Given the description of an element on the screen output the (x, y) to click on. 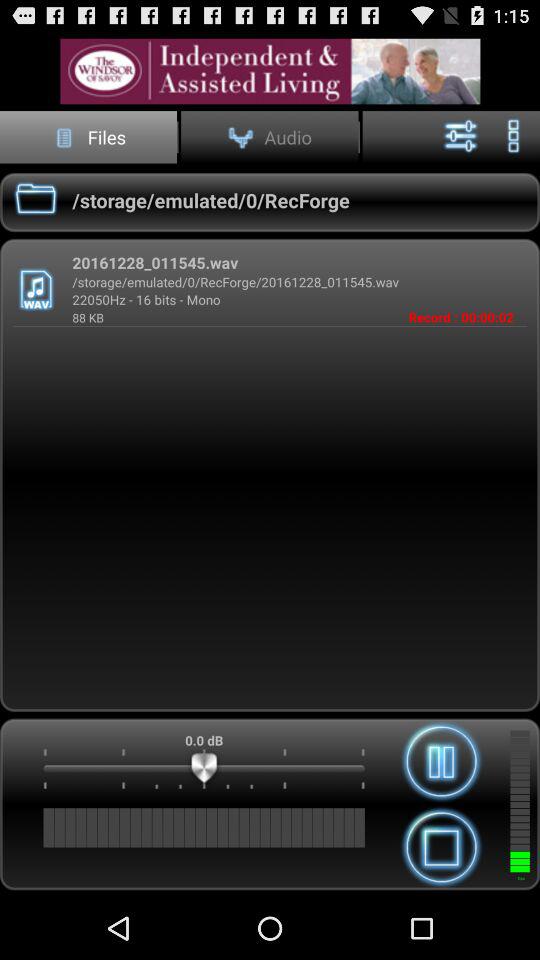
more info about an advertisement (270, 70)
